Given the description of an element on the screen output the (x, y) to click on. 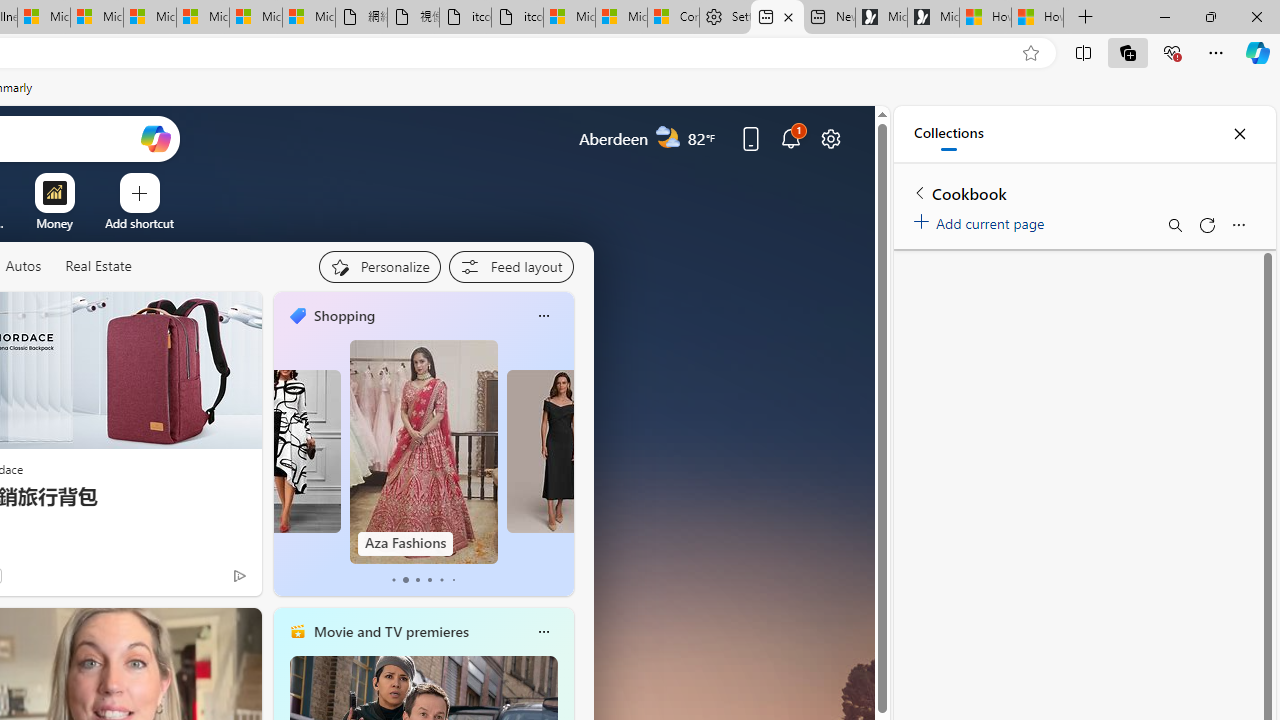
Consumer Health Data Privacy Policy (672, 17)
How to Use a TV as a Computer Monitor (1037, 17)
Page settings (831, 138)
tab-1 (405, 579)
tab-2 (416, 579)
